Given the description of an element on the screen output the (x, y) to click on. 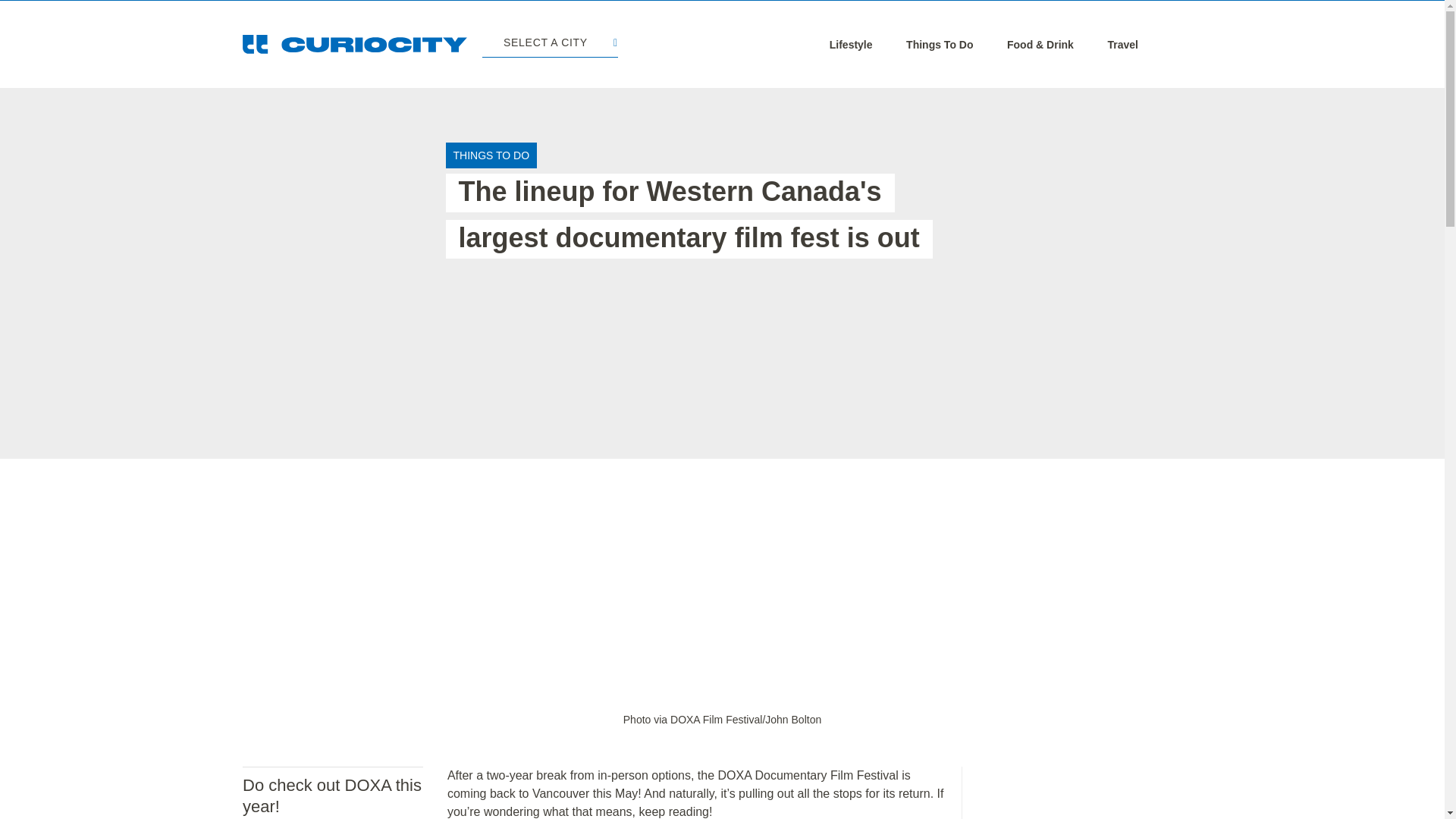
Things To Do (938, 44)
opens in a new tab (722, 719)
goes to Home (355, 43)
SELECT A CITY (549, 44)
Travel (1121, 44)
Lifestyle (850, 44)
curiocity-primary-logo-blue  (355, 44)
